Given the description of an element on the screen output the (x, y) to click on. 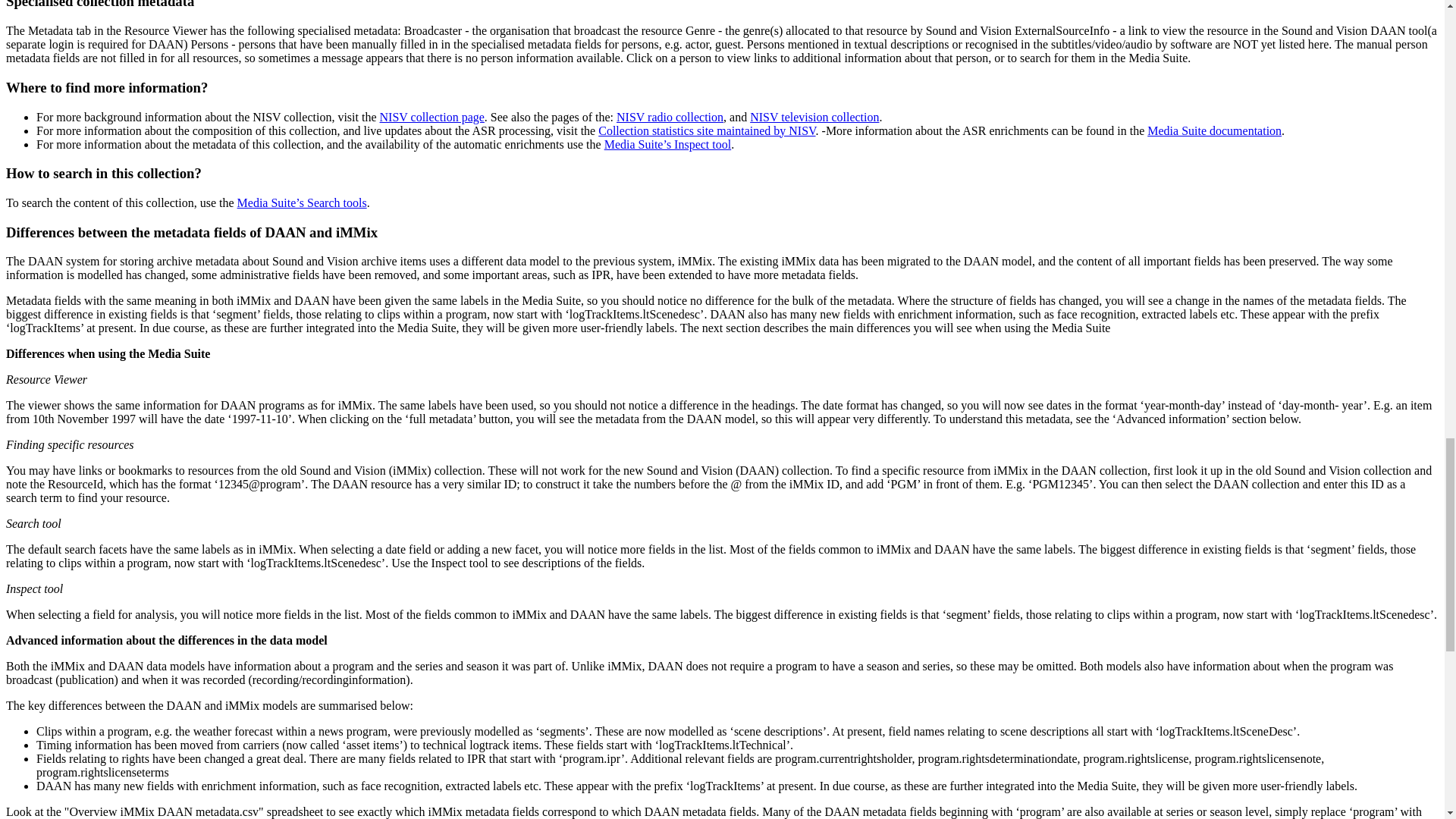
Media Suite documentation (1214, 130)
NISV television collection (814, 116)
Collection statistics site maintained by NISV (706, 130)
NISV collection page (432, 116)
NISV radio collection (669, 116)
